Given the description of an element on the screen output the (x, y) to click on. 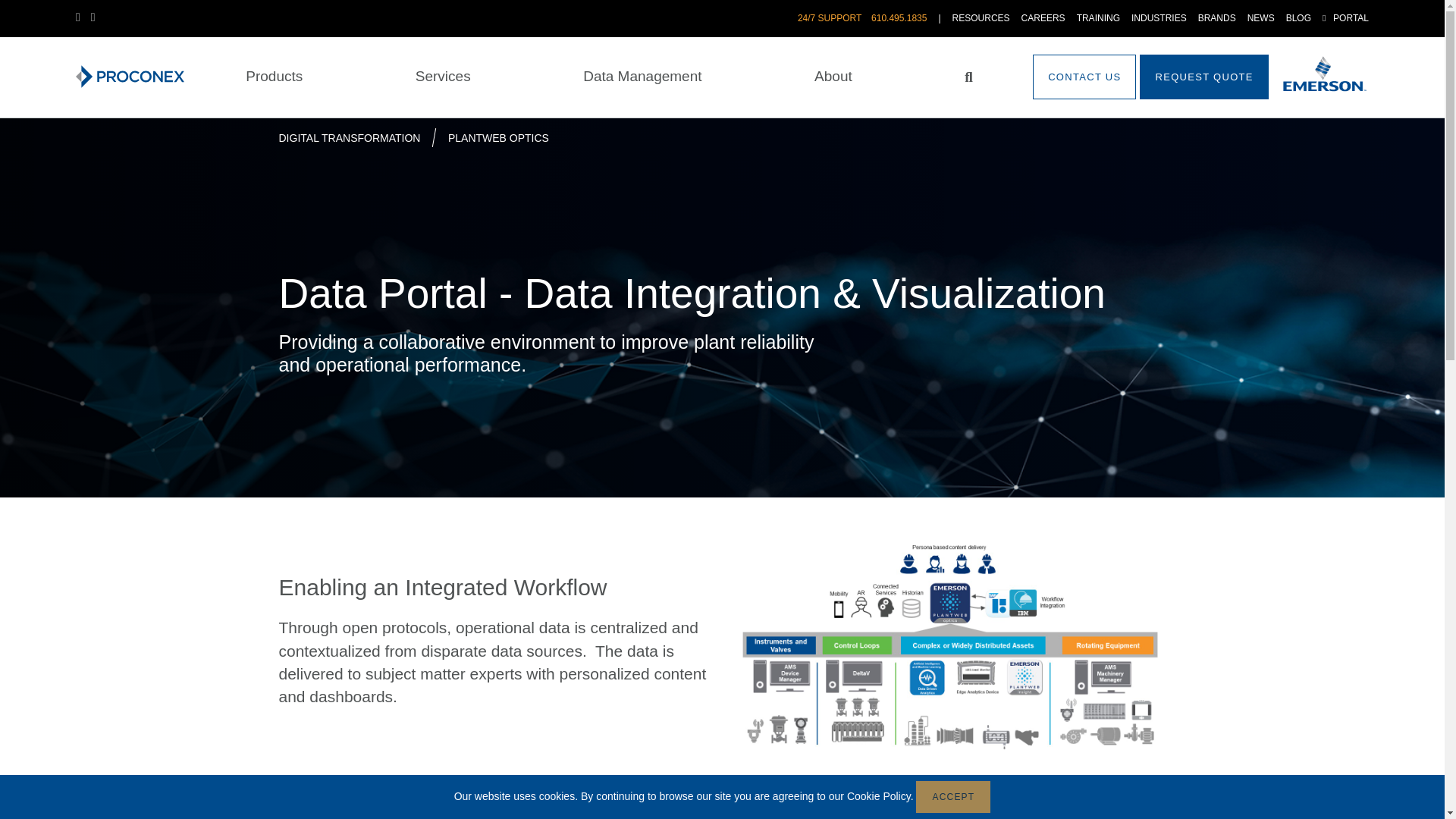
BRANDS (1217, 18)
Data Management (642, 76)
Accept (952, 797)
Proconex (129, 75)
CAREERS (1043, 18)
Industries (1158, 18)
LinkedIn (82, 16)
LinkedIn (82, 16)
BLOG (1298, 18)
Products (274, 76)
